Given the description of an element on the screen output the (x, y) to click on. 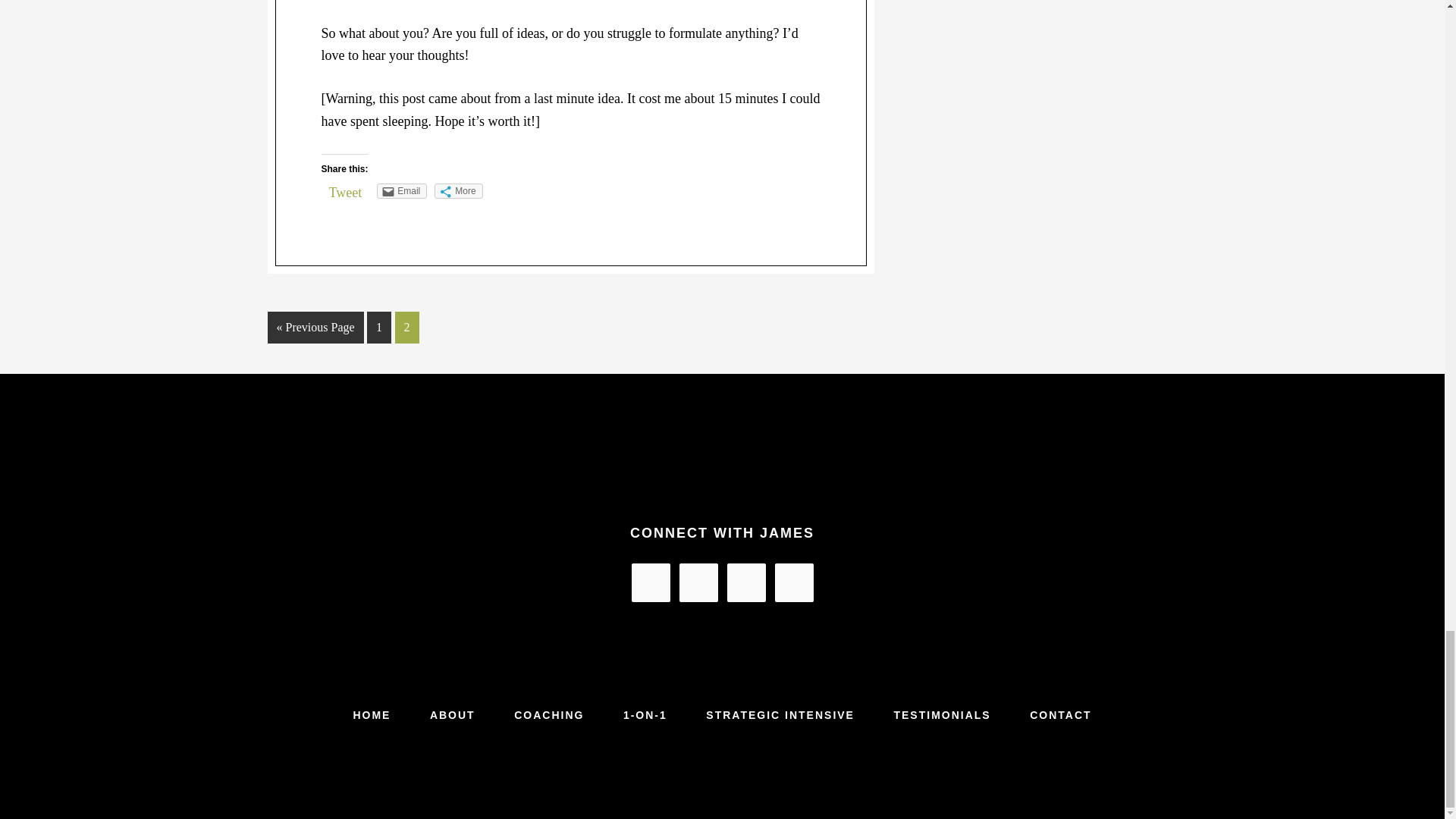
Click to email a link to a friend (401, 191)
Email (401, 191)
Tweet (345, 192)
More (457, 191)
